Given the description of an element on the screen output the (x, y) to click on. 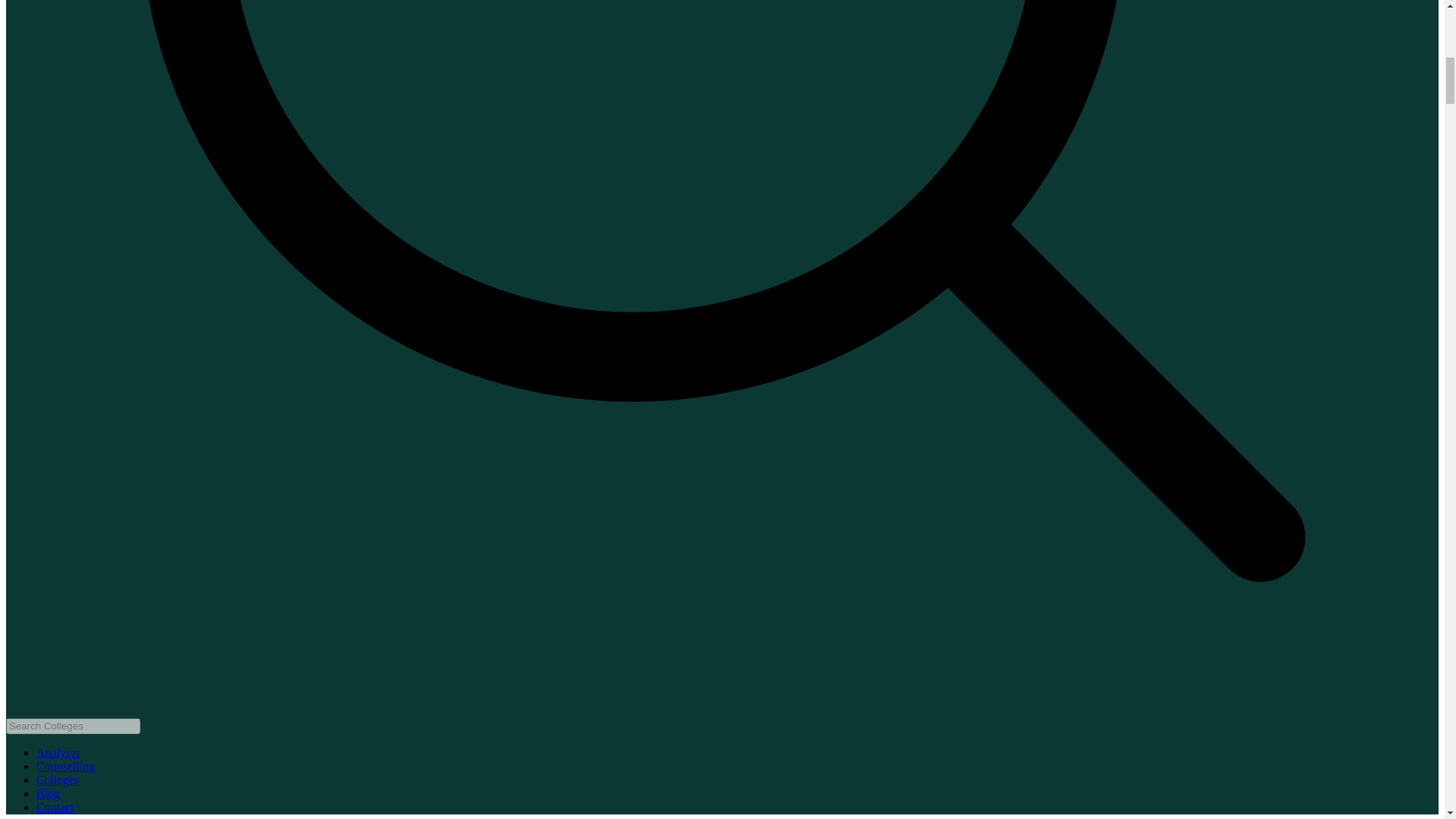
Blog (47, 793)
Colleges (57, 779)
Contact (55, 807)
Analyser (58, 752)
Counselling (65, 766)
